Given the description of an element on the screen output the (x, y) to click on. 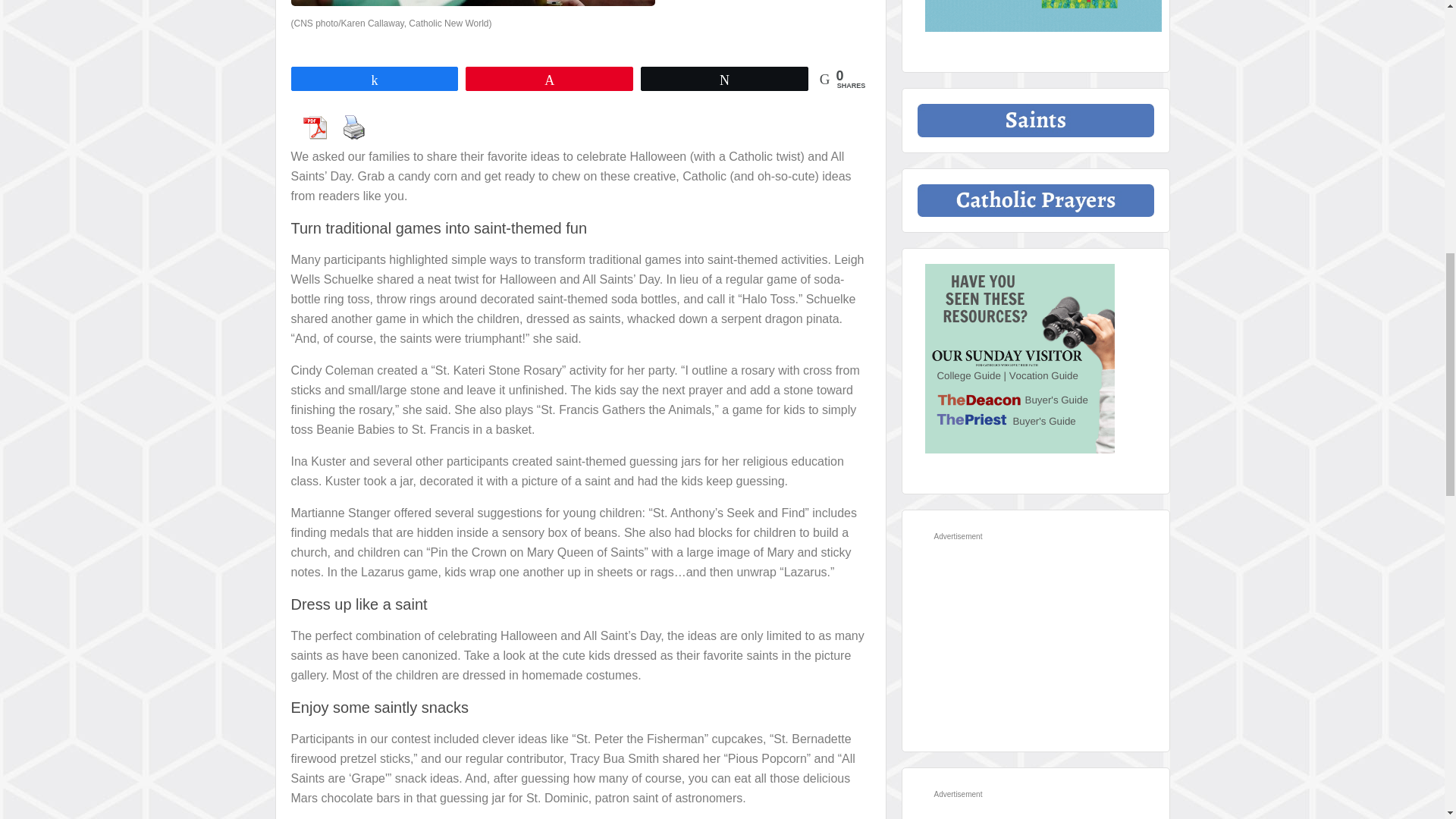
View PDF (314, 127)
Print Content (353, 127)
3rd party ad content (1030, 811)
3rd party ad content (1030, 641)
